Given the description of an element on the screen output the (x, y) to click on. 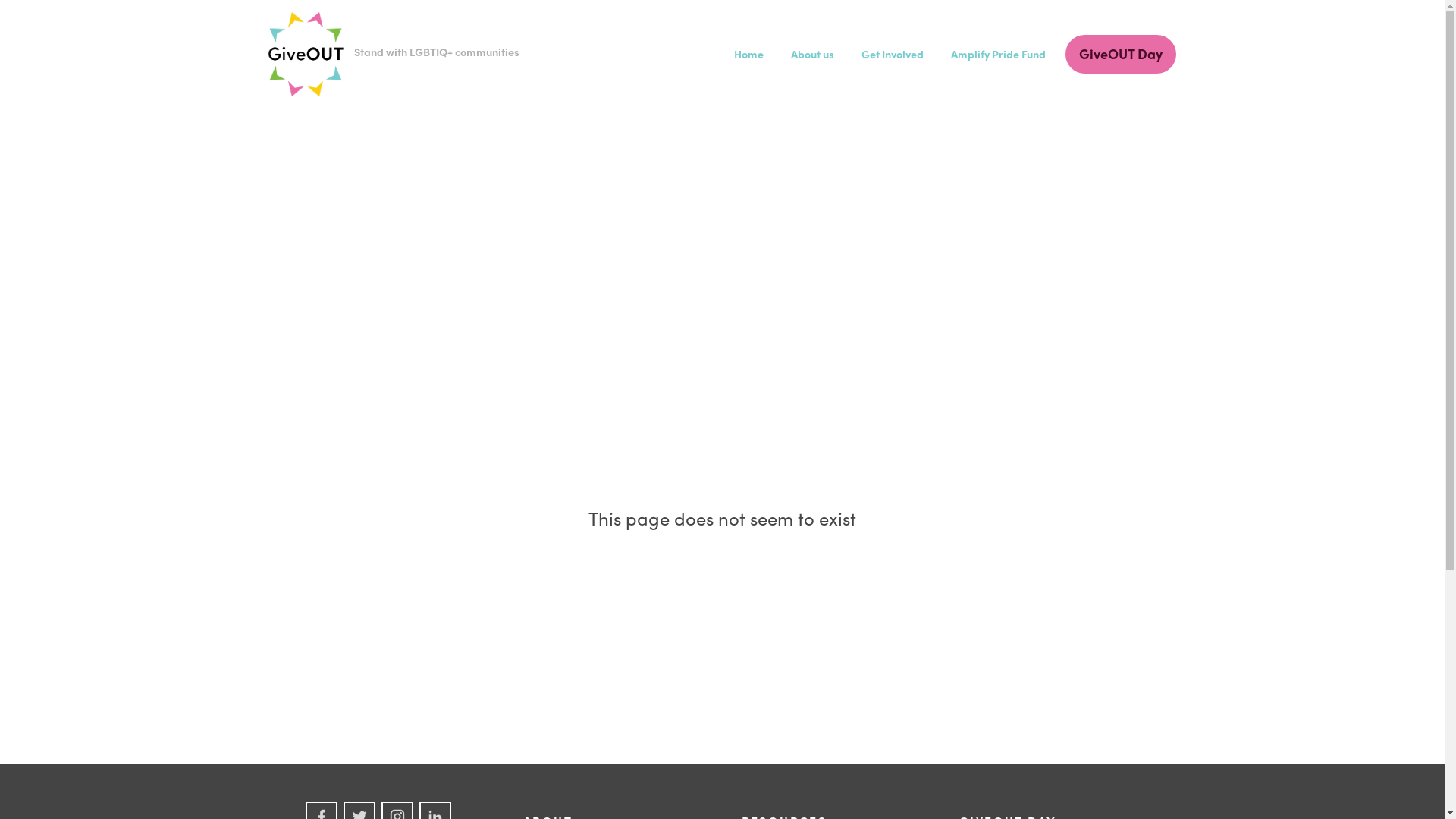
GiveOUT Day Element type: text (1119, 53)
About us Element type: text (811, 53)
Get Involved Element type: text (892, 53)
Home Element type: text (748, 53)
Amplify Pride Fund Element type: text (997, 53)
